Given the description of an element on the screen output the (x, y) to click on. 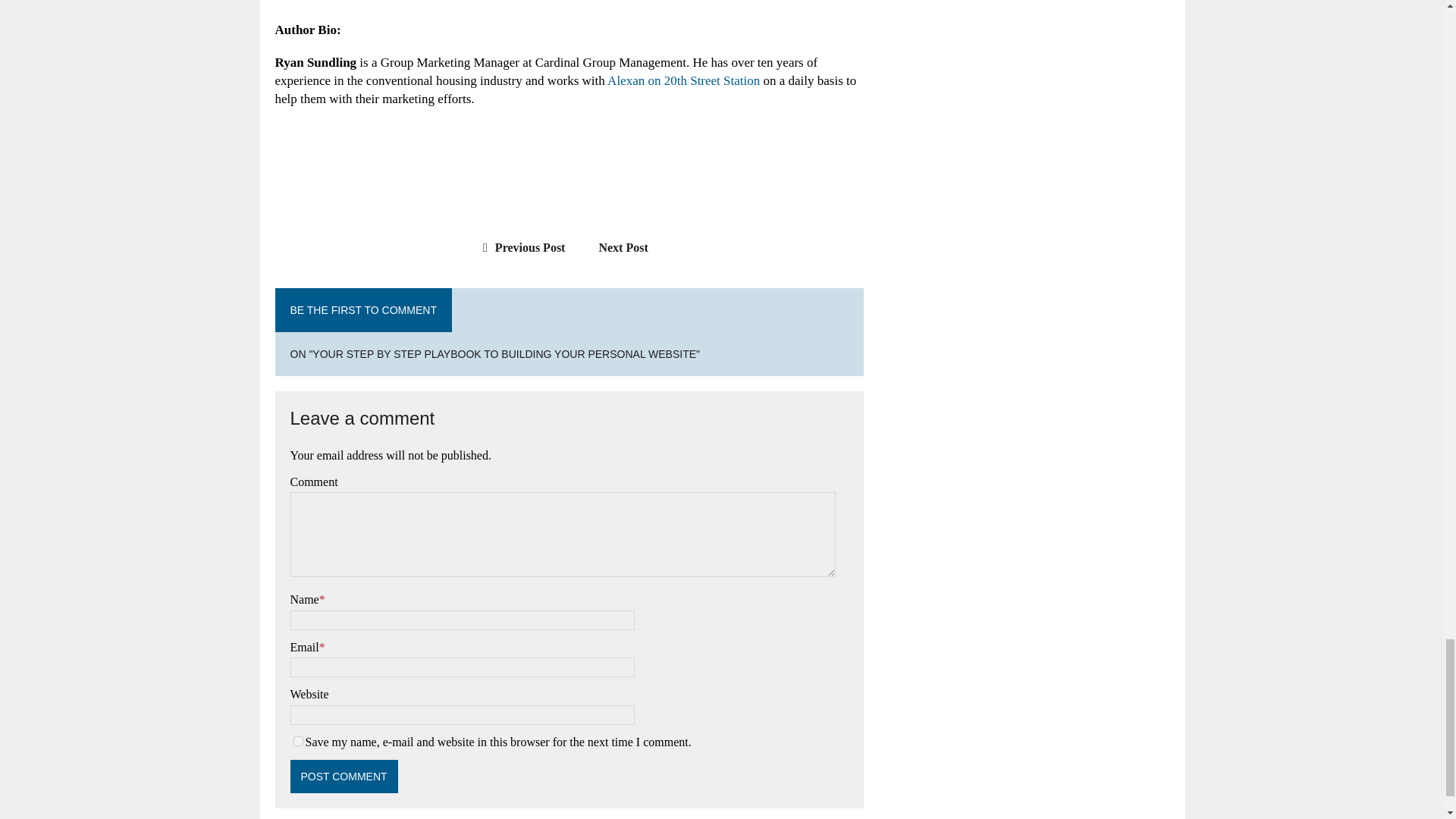
Next Post (630, 246)
Post Comment (343, 776)
yes (297, 741)
Previous Post (520, 246)
Alexan on 20th Street Station (683, 80)
Post Comment (343, 776)
